Given the description of an element on the screen output the (x, y) to click on. 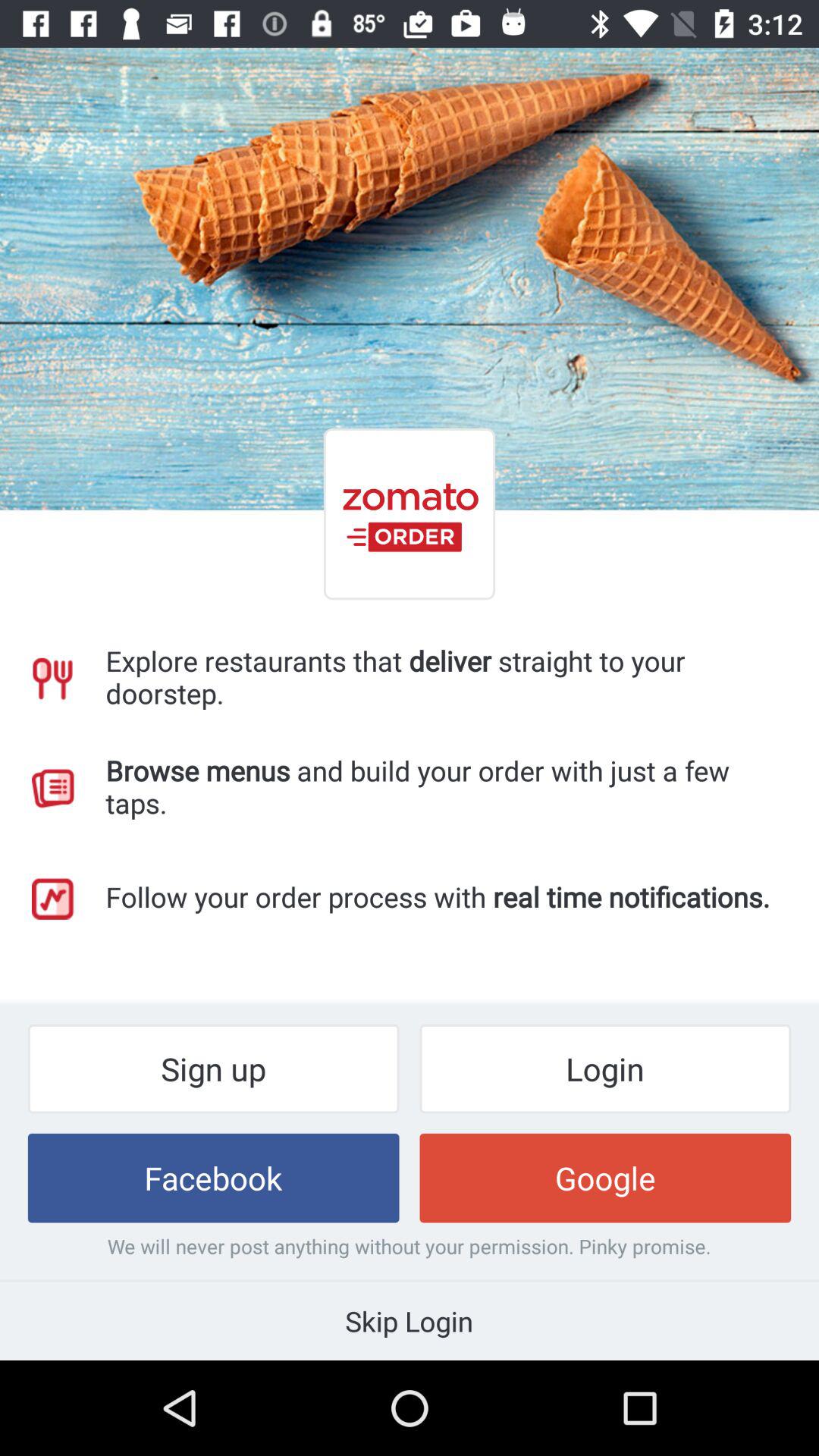
press icon above facebook icon (213, 1068)
